Given the description of an element on the screen output the (x, y) to click on. 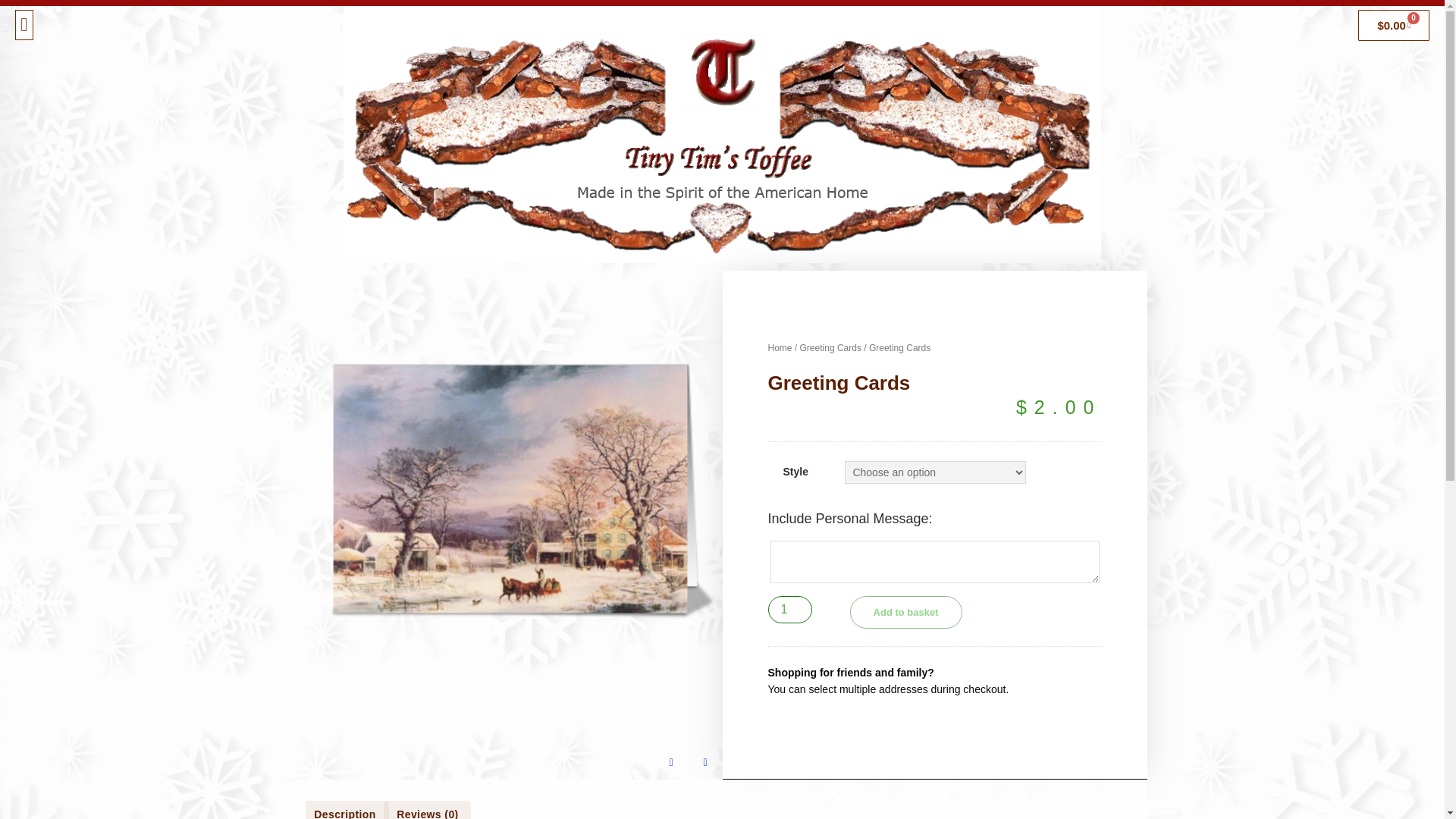
1 (788, 609)
Description (344, 809)
Add to basket (906, 612)
Greeting Cards (830, 347)
Home (779, 347)
